Given the description of an element on the screen output the (x, y) to click on. 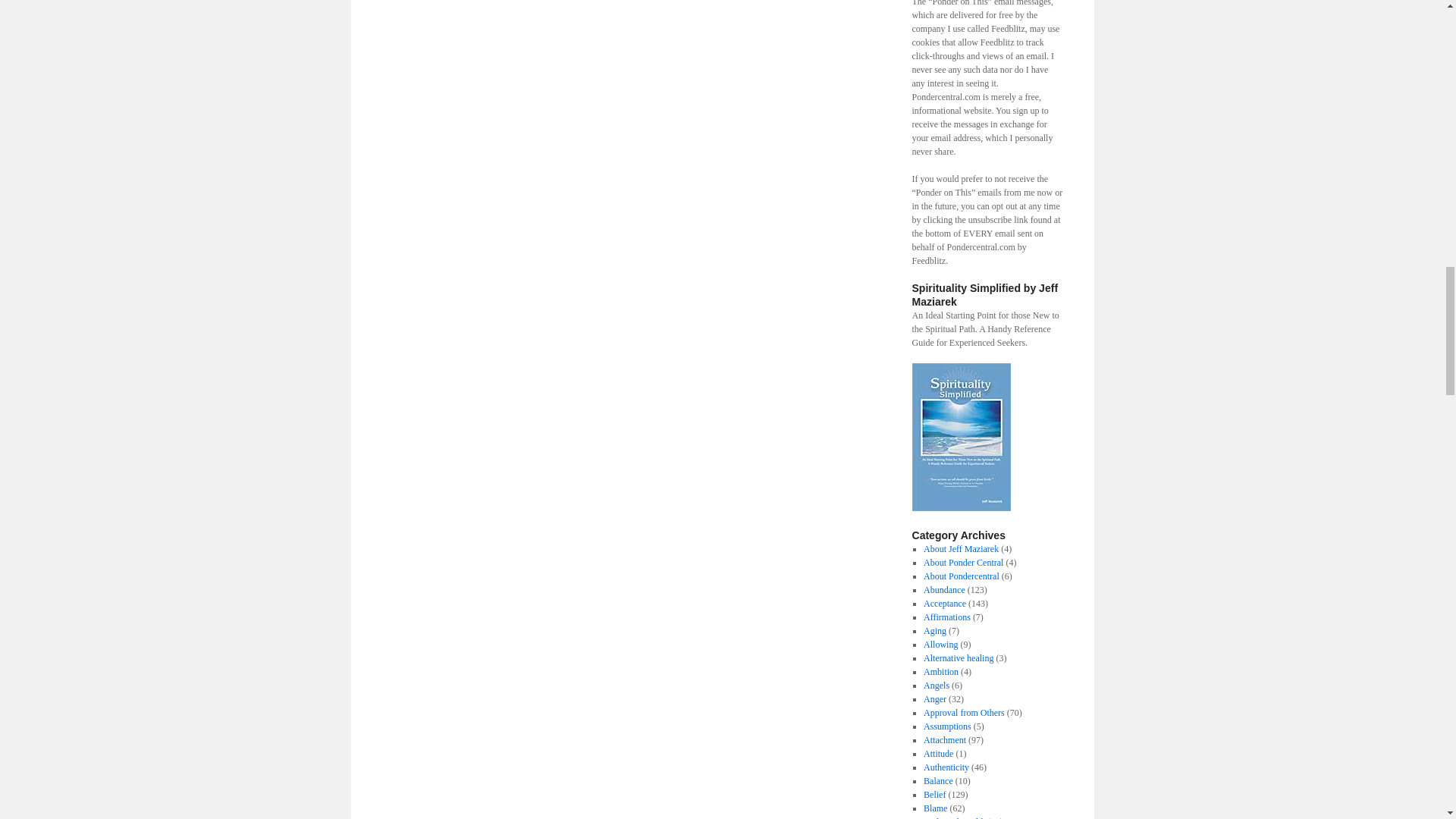
Ambition (940, 671)
Allowing (940, 644)
About Pondercentral (960, 575)
About Ponder Central (963, 562)
Acceptance (944, 603)
Affirmations (947, 616)
Aging (934, 630)
Abundance (944, 589)
About Jeff Maziarek (960, 548)
Alternative healing (957, 657)
